Given the description of an element on the screen output the (x, y) to click on. 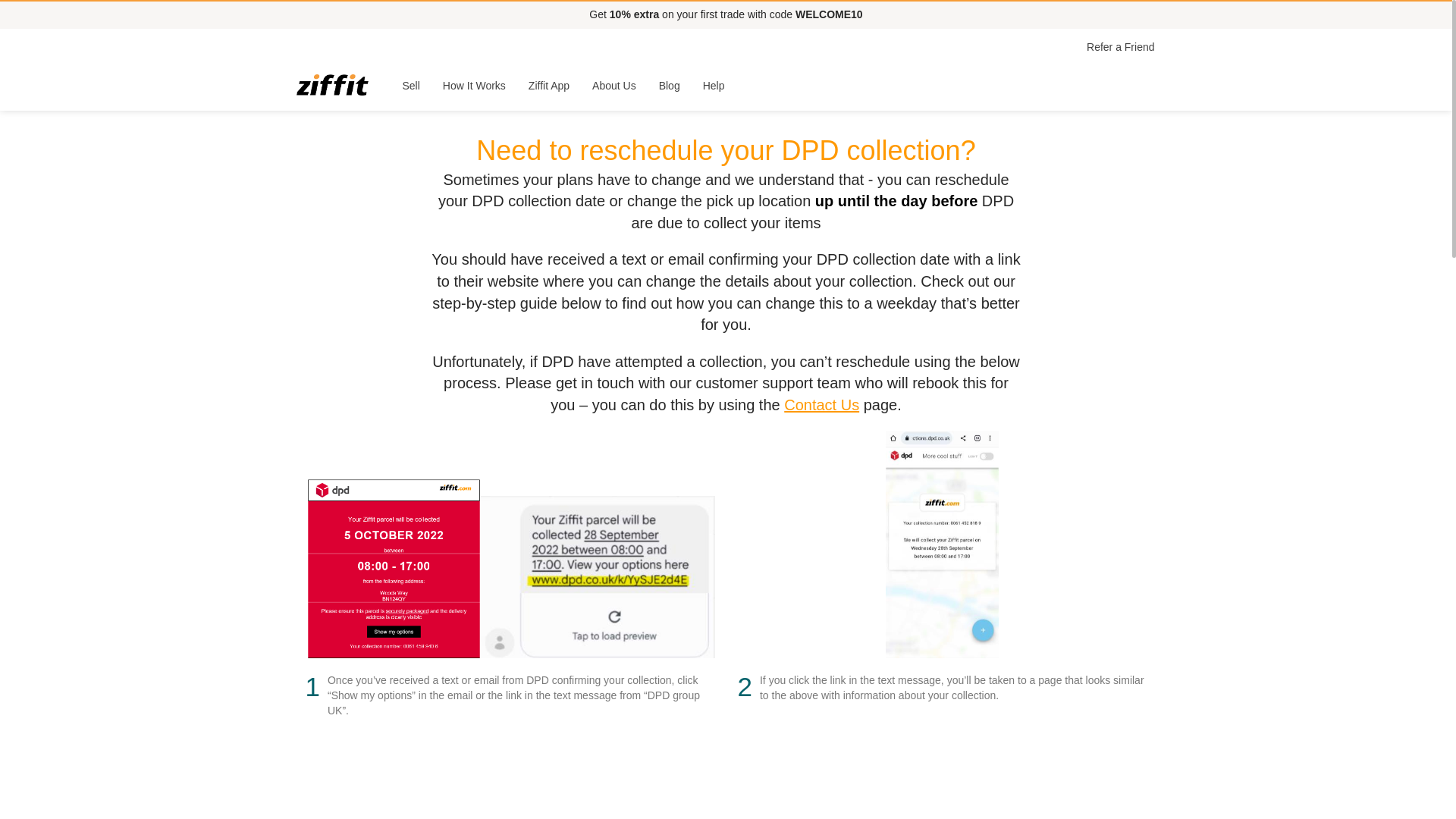
Help (713, 85)
Contact Us (821, 404)
Ziffit App (548, 85)
Blog (669, 85)
How It Works (473, 85)
Refer a Friend (1120, 46)
About Us (613, 85)
